Given the description of an element on the screen output the (x, y) to click on. 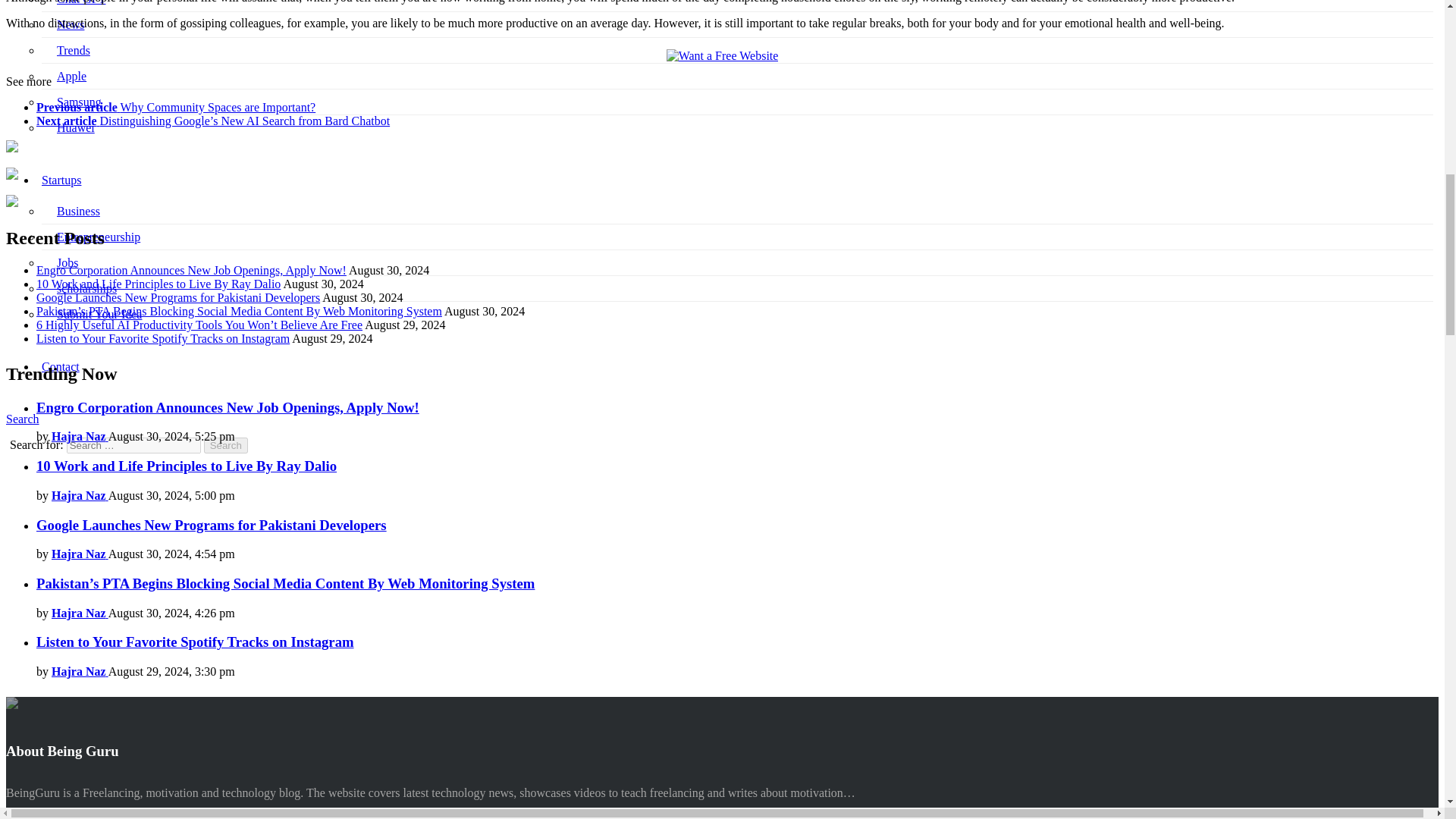
Posts by Hajra Naz (78, 495)
Want a Free Website (722, 56)
Search (225, 445)
Posts by Hajra Naz (78, 553)
Startups (61, 179)
Posts by Hajra Naz (78, 671)
Search (225, 445)
Search for: (133, 445)
Posts by Hajra Naz (78, 436)
Posts by Hajra Naz (78, 612)
